Given the description of an element on the screen output the (x, y) to click on. 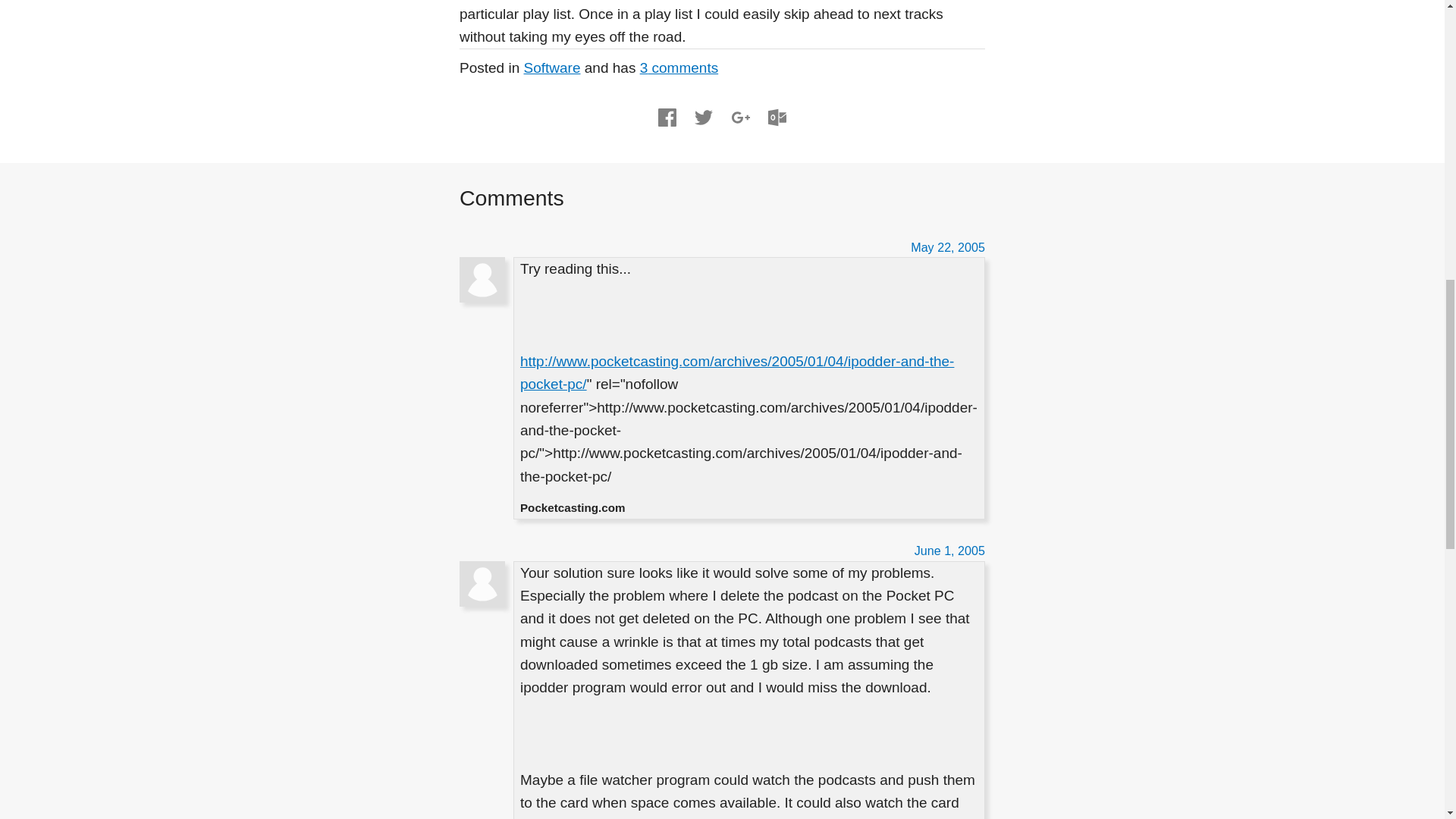
Share on Facebook (667, 117)
May 22, 2005 (948, 246)
June 1, 2005 (949, 550)
Email (777, 117)
Software (552, 67)
Share on Twitter (703, 117)
Go to the comments section (679, 67)
3 comments (679, 67)
